Given the description of an element on the screen output the (x, y) to click on. 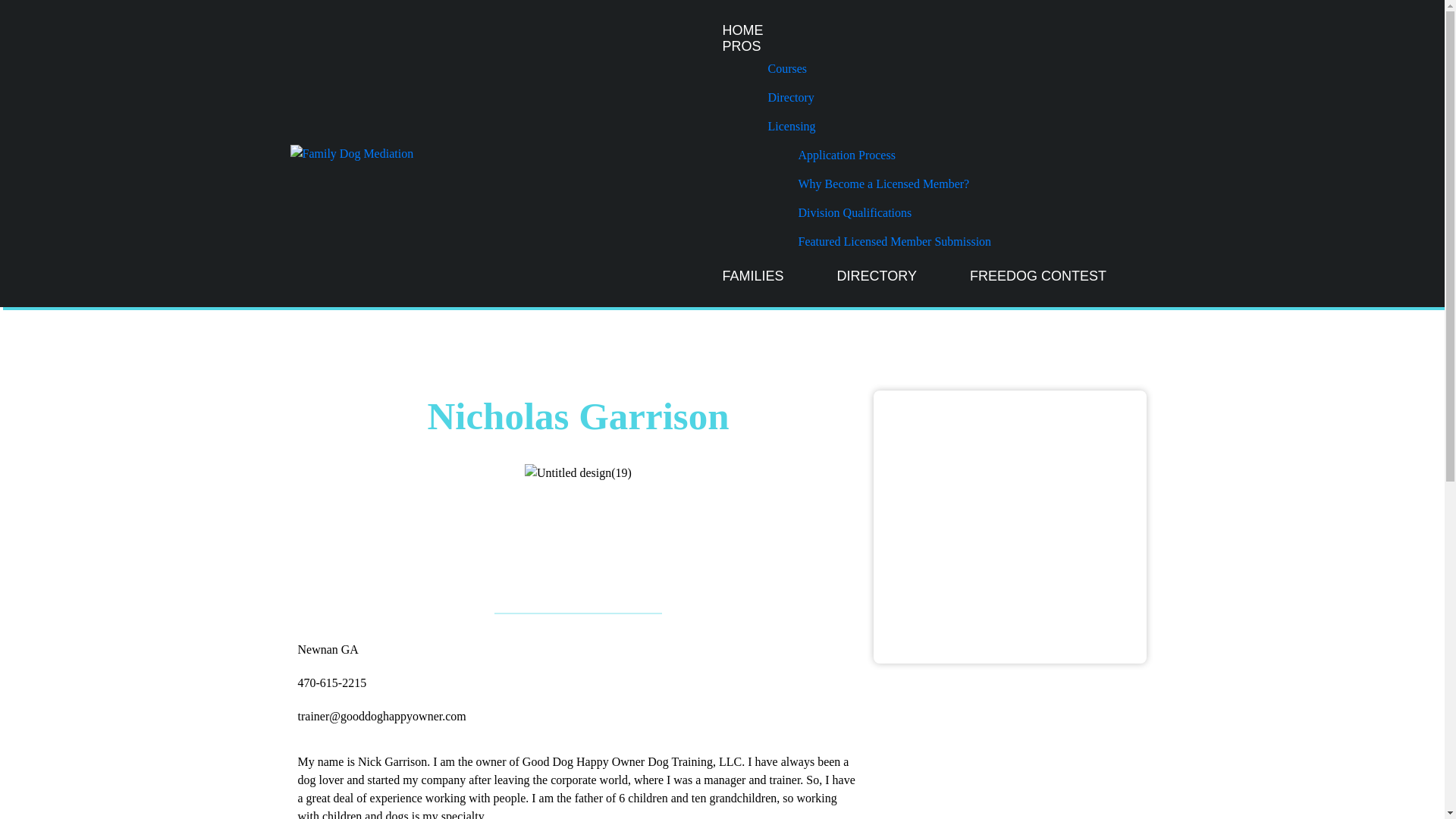
HOME (742, 30)
Courses (880, 68)
FREEDOG CONTEST (1037, 276)
Why Become a Licensed Member? (896, 184)
FAMILIES (752, 276)
DIRECTORY (877, 276)
Division Qualifications (896, 213)
Directory (880, 97)
PROS (865, 46)
Featured Licensed Member Submission  (896, 241)
